Given the description of an element on the screen output the (x, y) to click on. 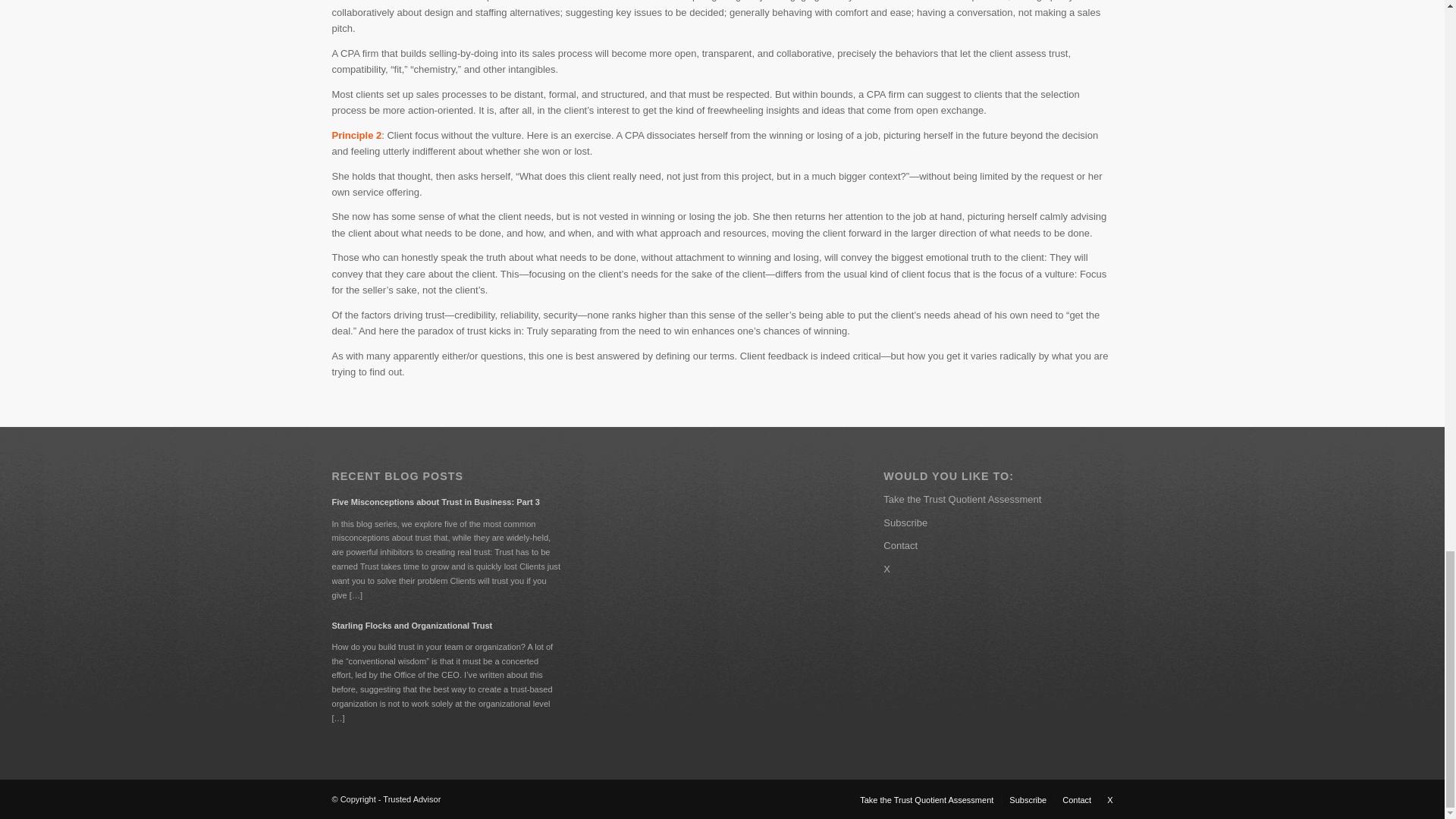
Five Misconceptions about Trust in Business: Part 3 (445, 501)
Starling Flocks and Organizational Trust (445, 625)
